Given the description of an element on the screen output the (x, y) to click on. 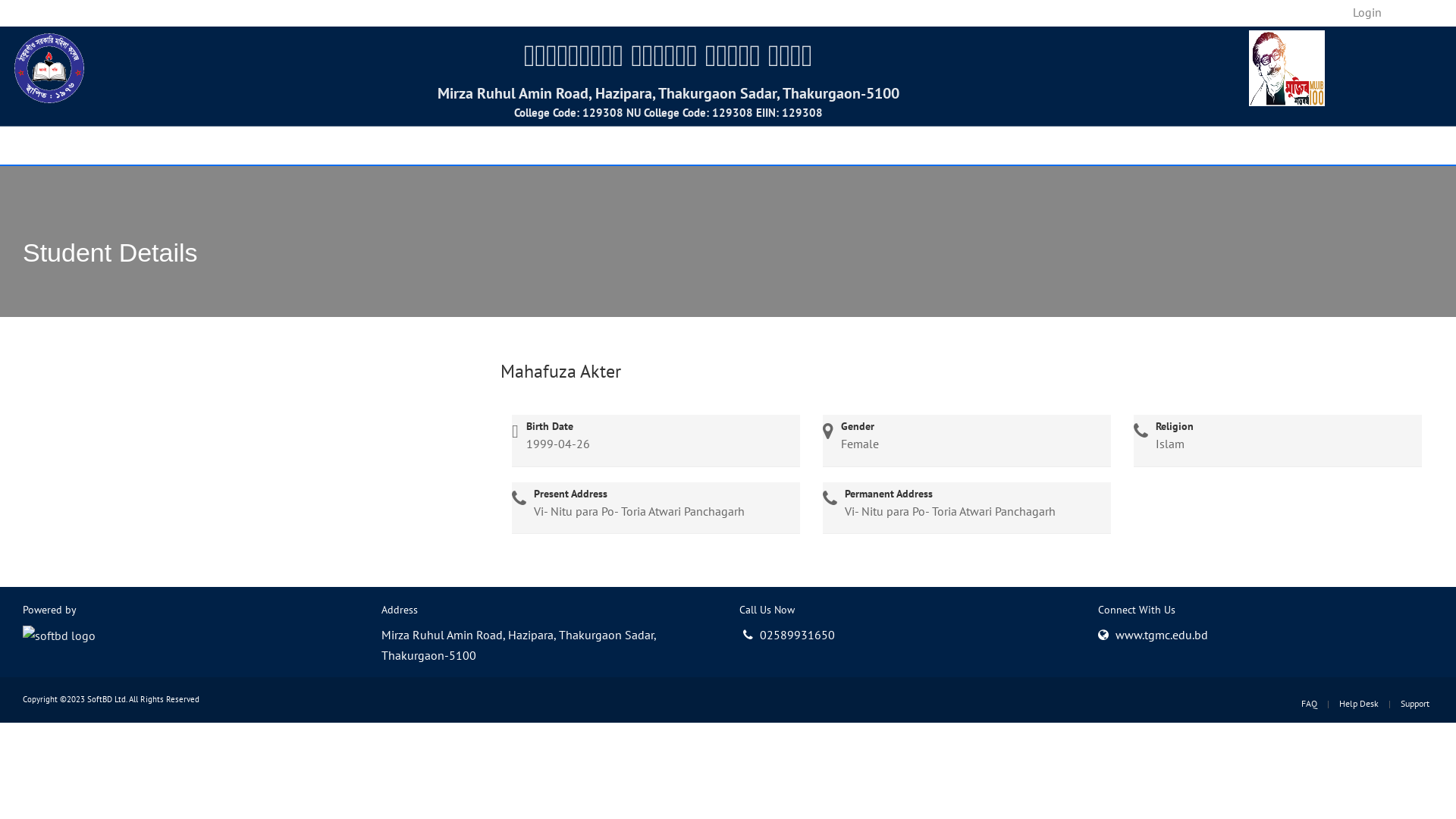
DEPARTMENTS Element type: text (318, 144)
Login Element type: text (1367, 11)
ARCHIVE Element type: text (666, 144)
www.tgmc.edu.bd Element type: text (1160, 634)
Help Desk Element type: text (1358, 703)
FAQ Element type: text (1309, 703)
NOTICES Element type: text (419, 144)
Support Element type: text (1414, 703)
RESULTS Element type: text (585, 144)
HOME Element type: text (43, 144)
SoftBD Ltd. Element type: text (106, 698)
02589931650 Element type: text (788, 634)
PAYMENT Element type: text (502, 144)
ACADEMIC Element type: text (211, 144)
ABOUT US Element type: text (120, 144)
General Notice :: Element type: text (507, 11)
